Given the description of an element on the screen output the (x, y) to click on. 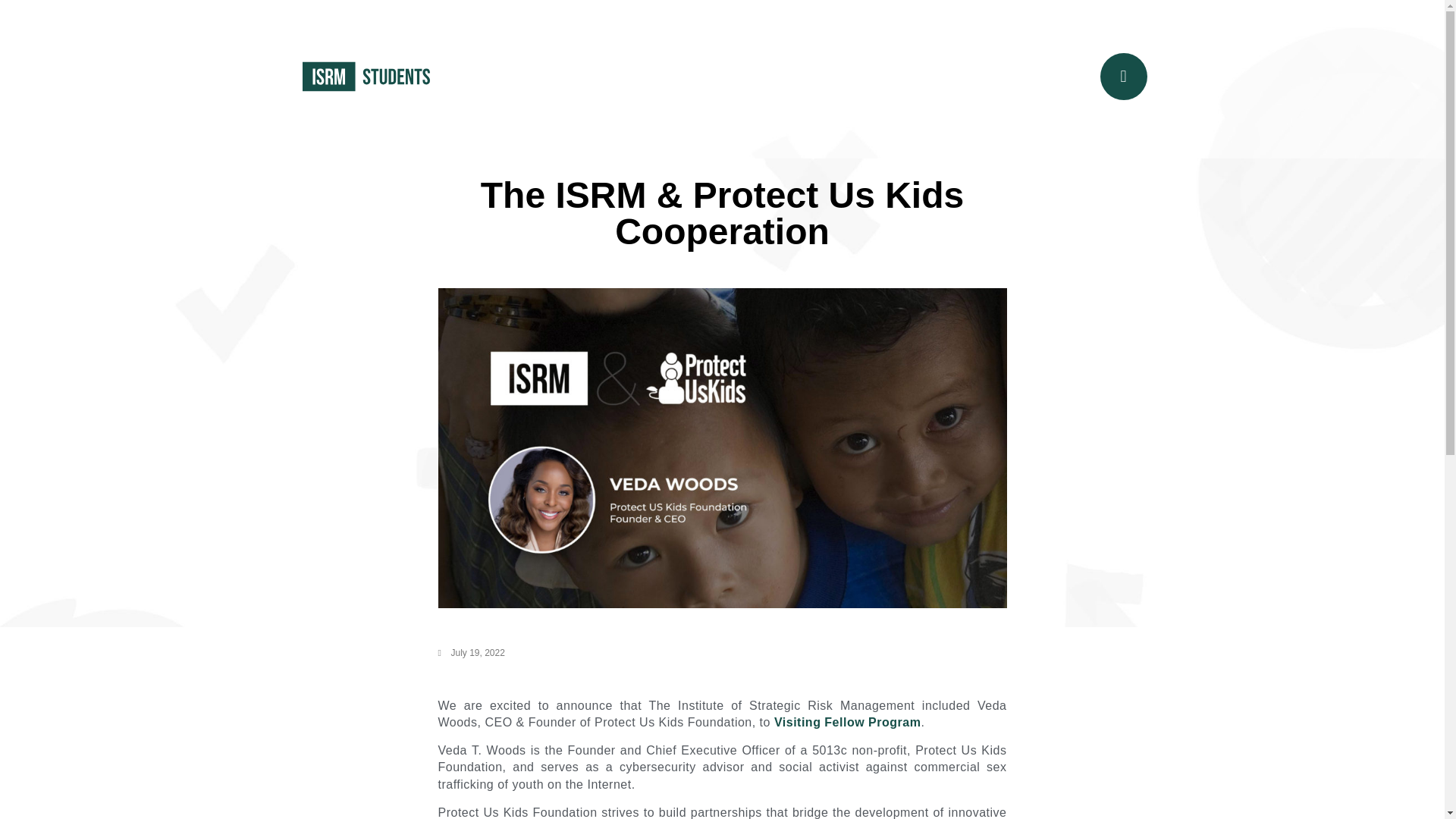
Visiting Fellow Program (847, 721)
